Given the description of an element on the screen output the (x, y) to click on. 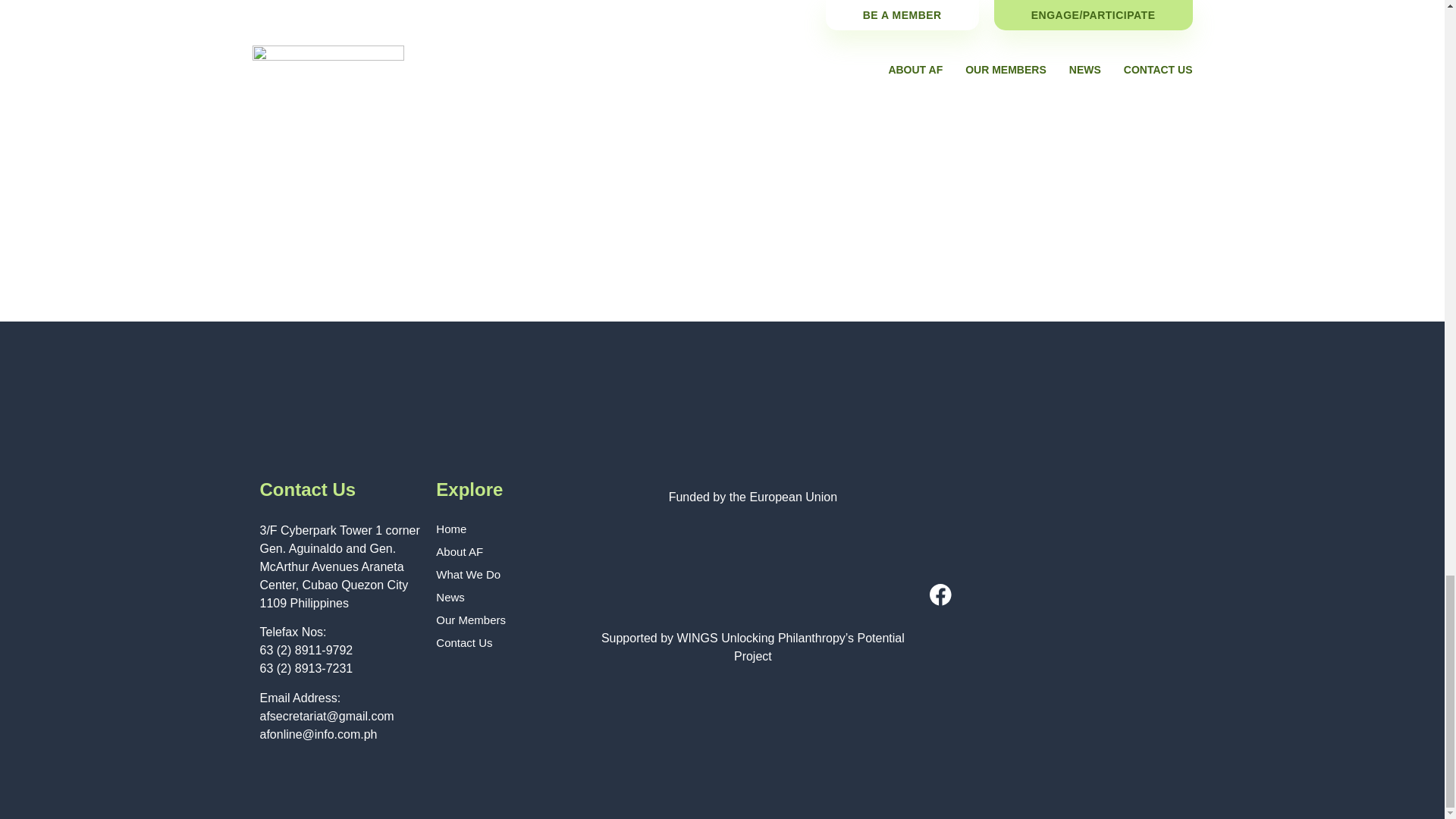
What We Do (505, 574)
Home (505, 529)
About AF (505, 551)
